Given the description of an element on the screen output the (x, y) to click on. 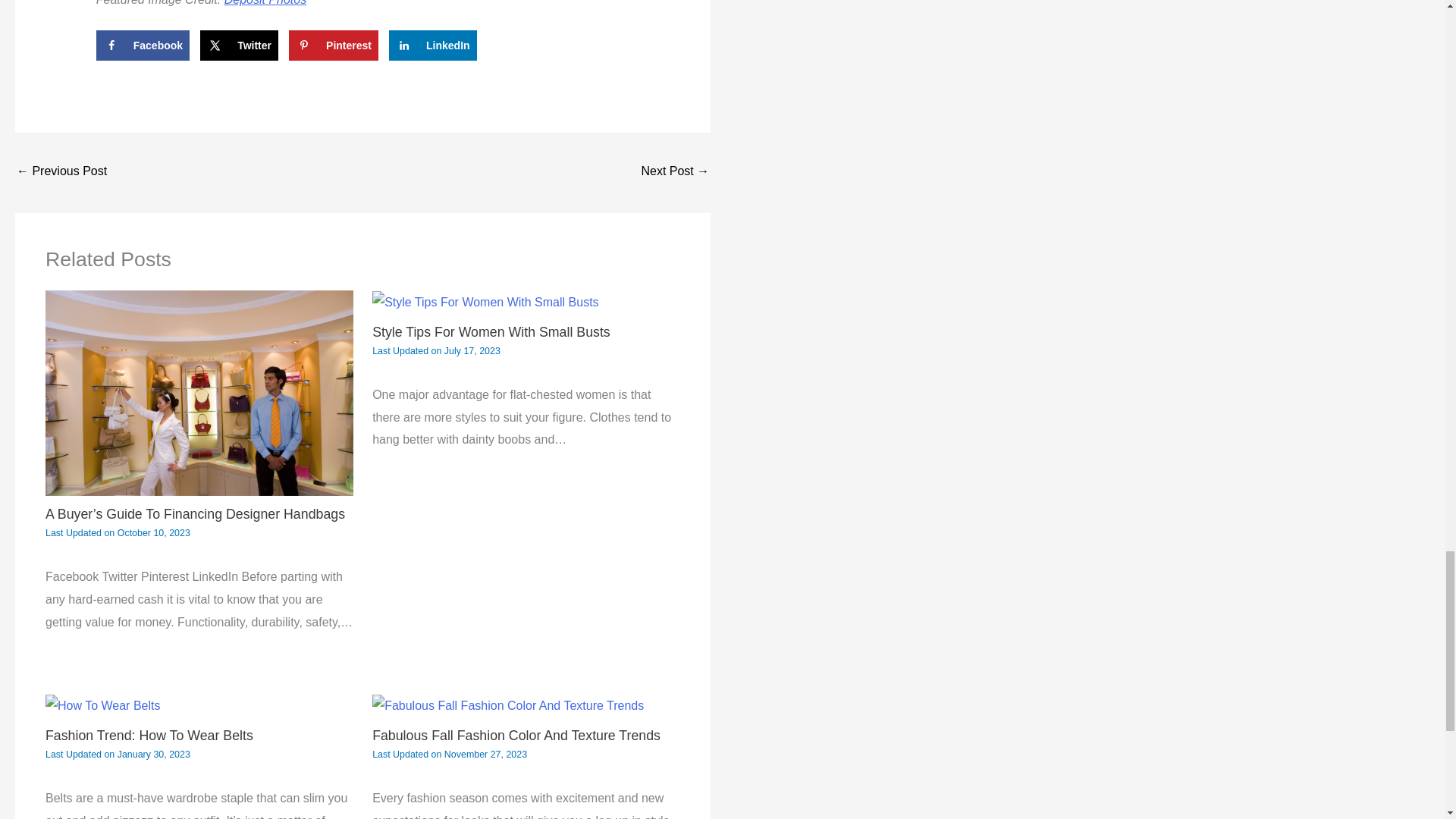
Must-See Places When Vacationing in NYC (61, 172)
Facebook (142, 45)
Share on Facebook (142, 45)
Ravensburger Barbie Around The World Puzzle Giveaway (674, 172)
Save to Pinterest (333, 45)
Share on X (239, 45)
Deposit Photos (265, 2)
LinkedIn (432, 45)
Pinterest (333, 45)
Share on LinkedIn (432, 45)
